Given the description of an element on the screen output the (x, y) to click on. 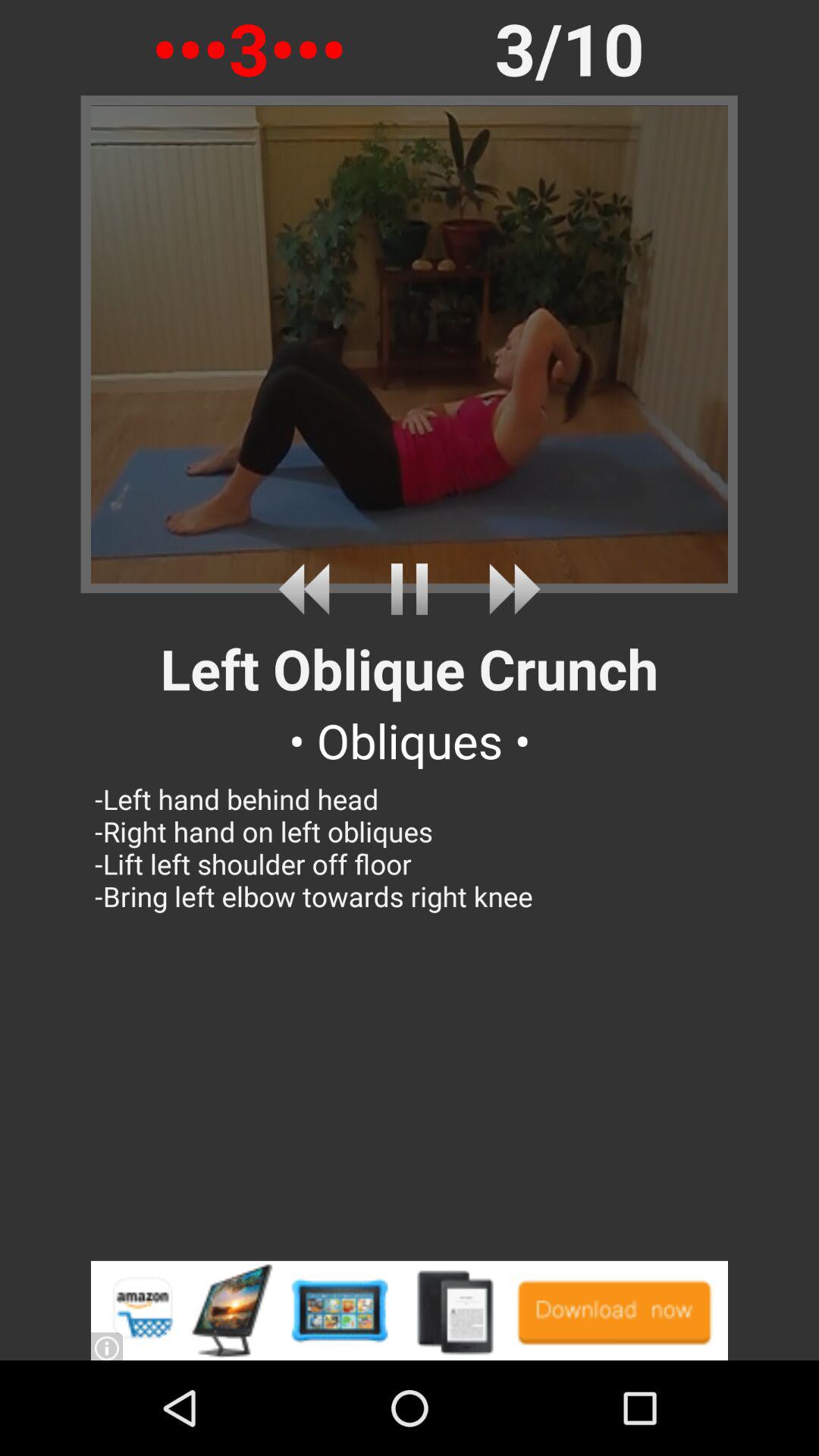
rewind to previous video (309, 589)
